Given the description of an element on the screen output the (x, y) to click on. 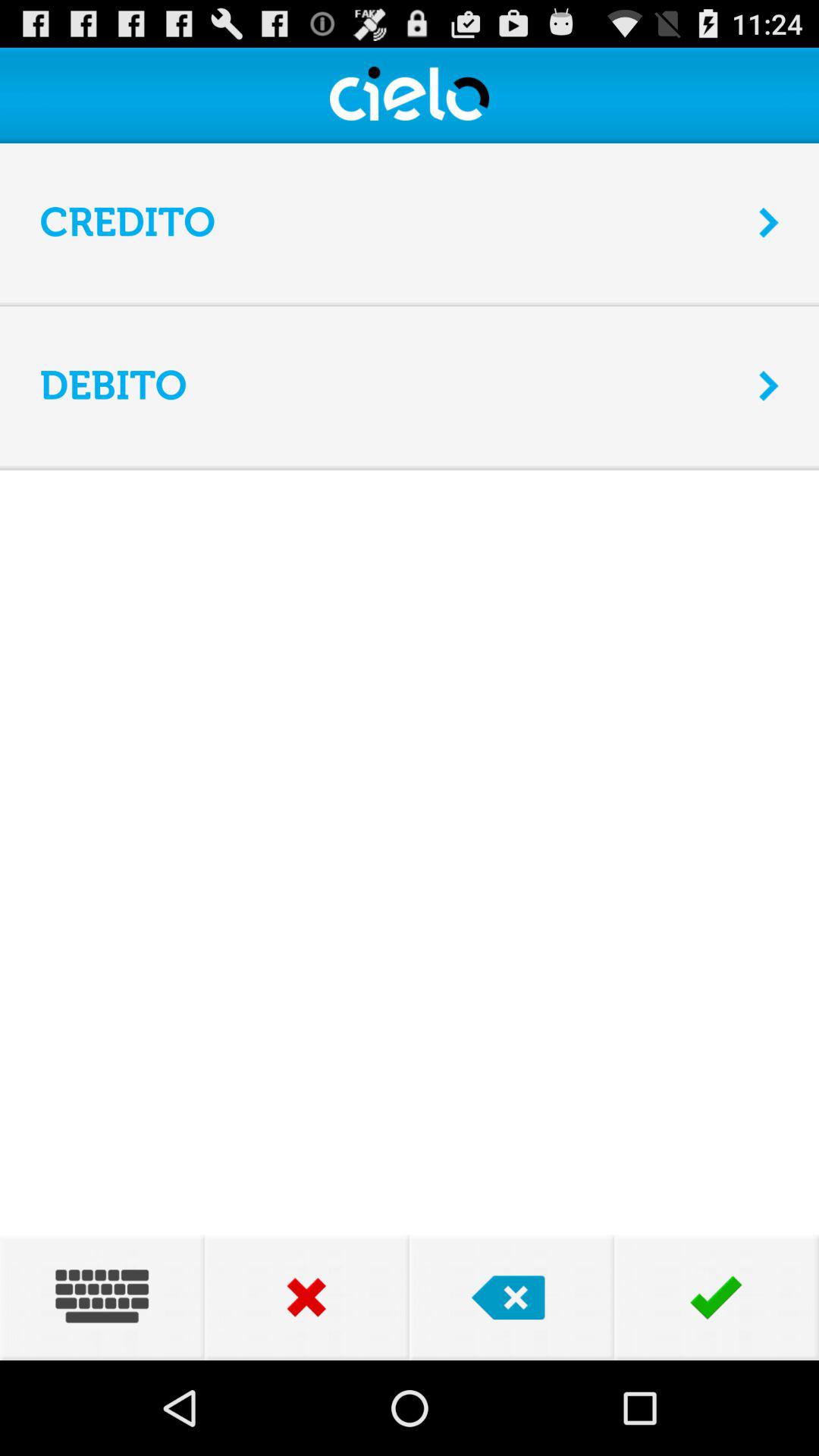
scroll until the debito item (389, 385)
